Given the description of an element on the screen output the (x, y) to click on. 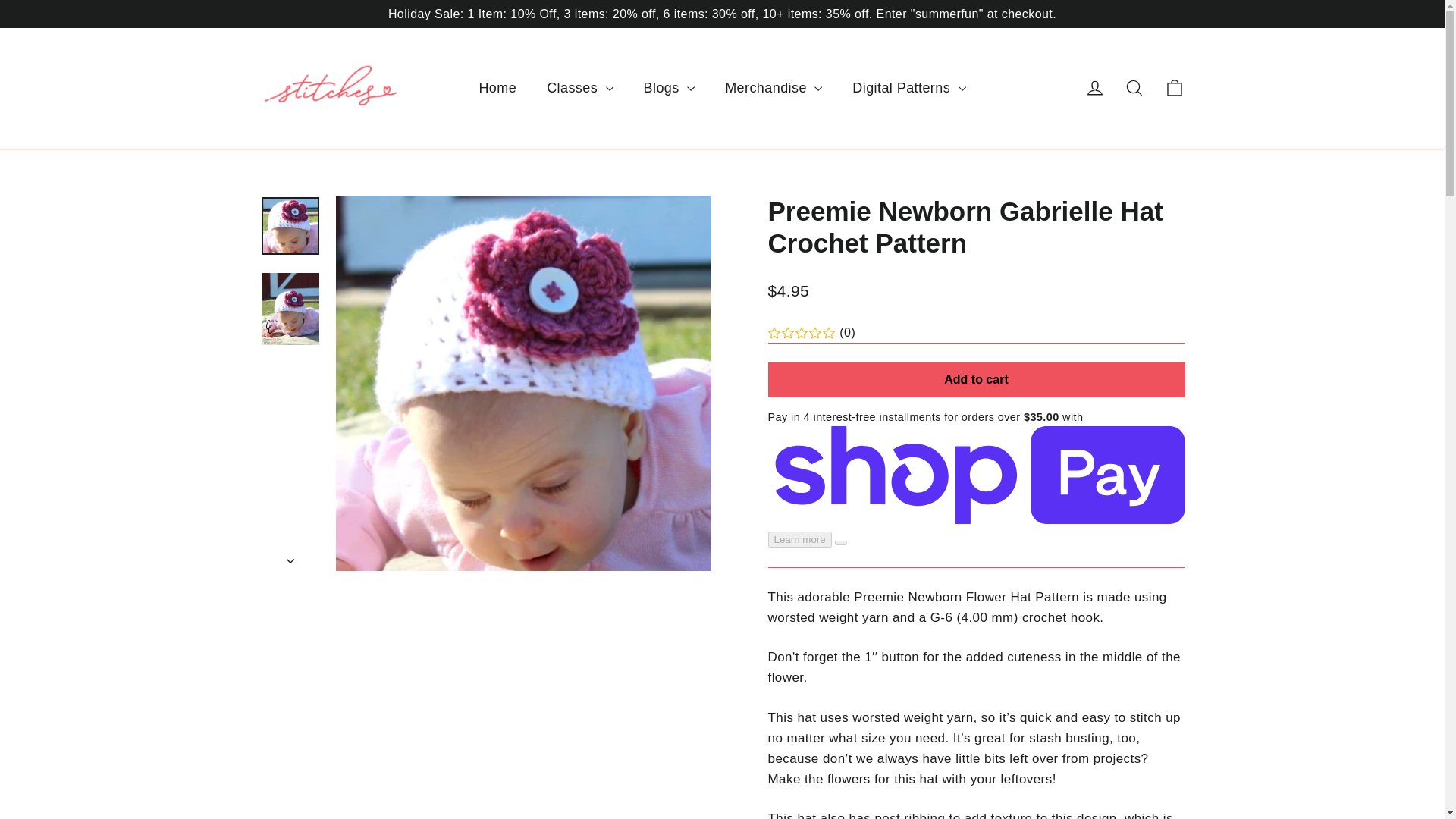
icon-search (1134, 87)
account (1094, 87)
icon-bag-minimal (1174, 87)
Home (497, 88)
